Given the description of an element on the screen output the (x, y) to click on. 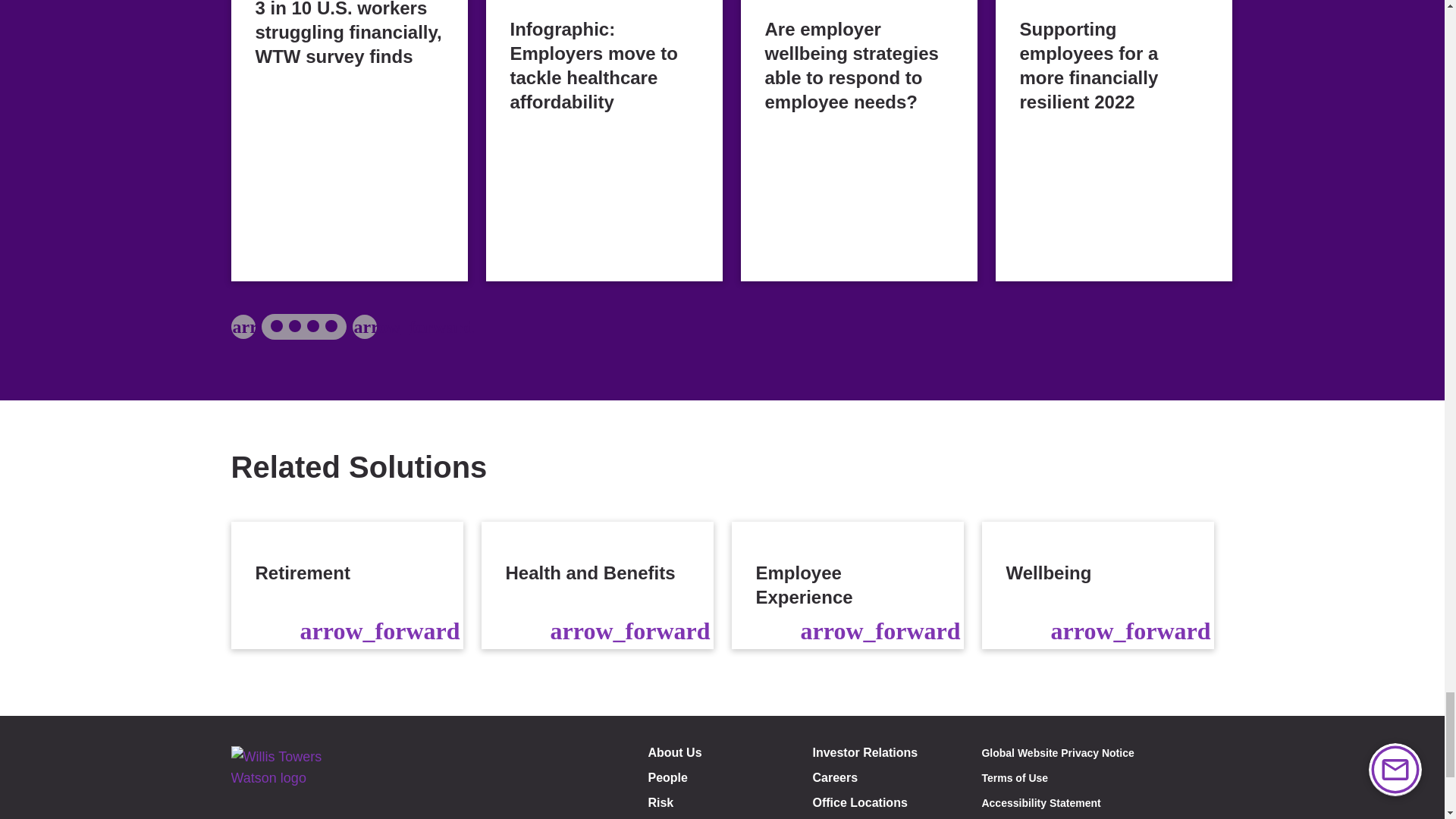
Health and Benefits (596, 585)
Employee Experience (846, 585)
Wellbeing (1096, 585)
Retirement (346, 585)
